Given the description of an element on the screen output the (x, y) to click on. 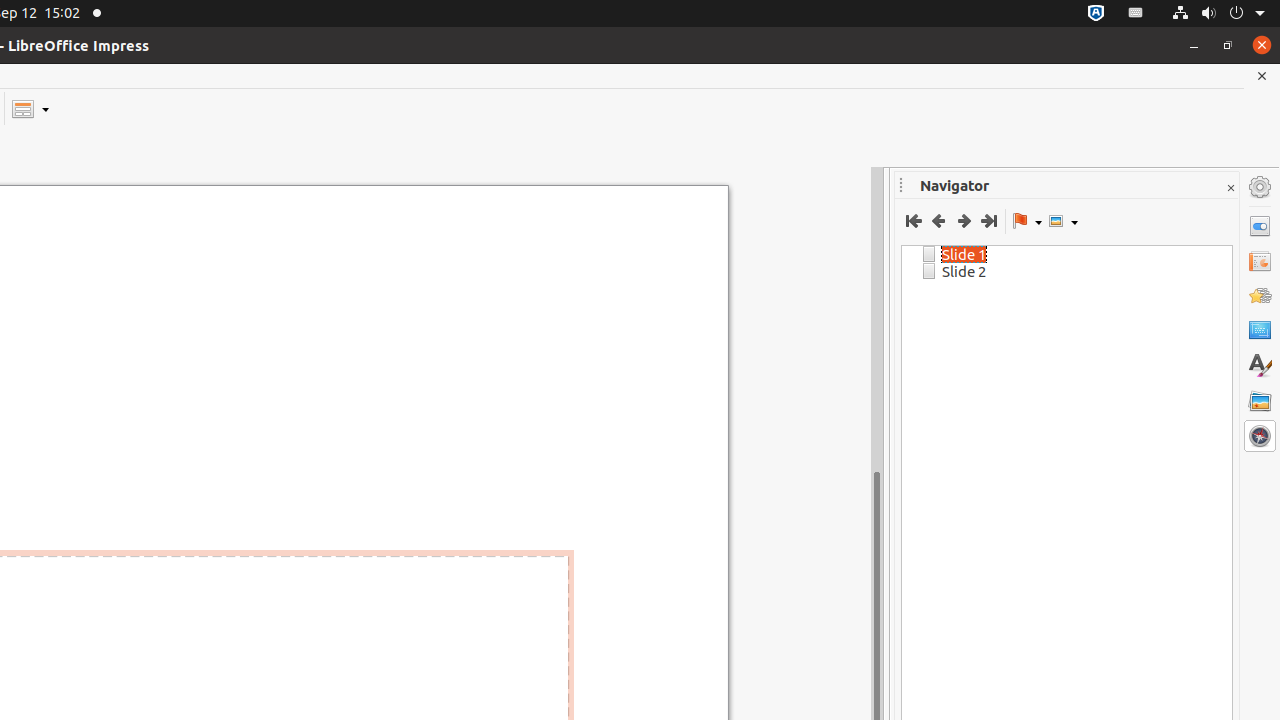
Previous Slide Element type: push-button (938, 221)
Slide Layout Element type: push-button (30, 108)
First Slide Element type: push-button (913, 221)
Animation Element type: radio-button (1260, 296)
